Given the description of an element on the screen output the (x, y) to click on. 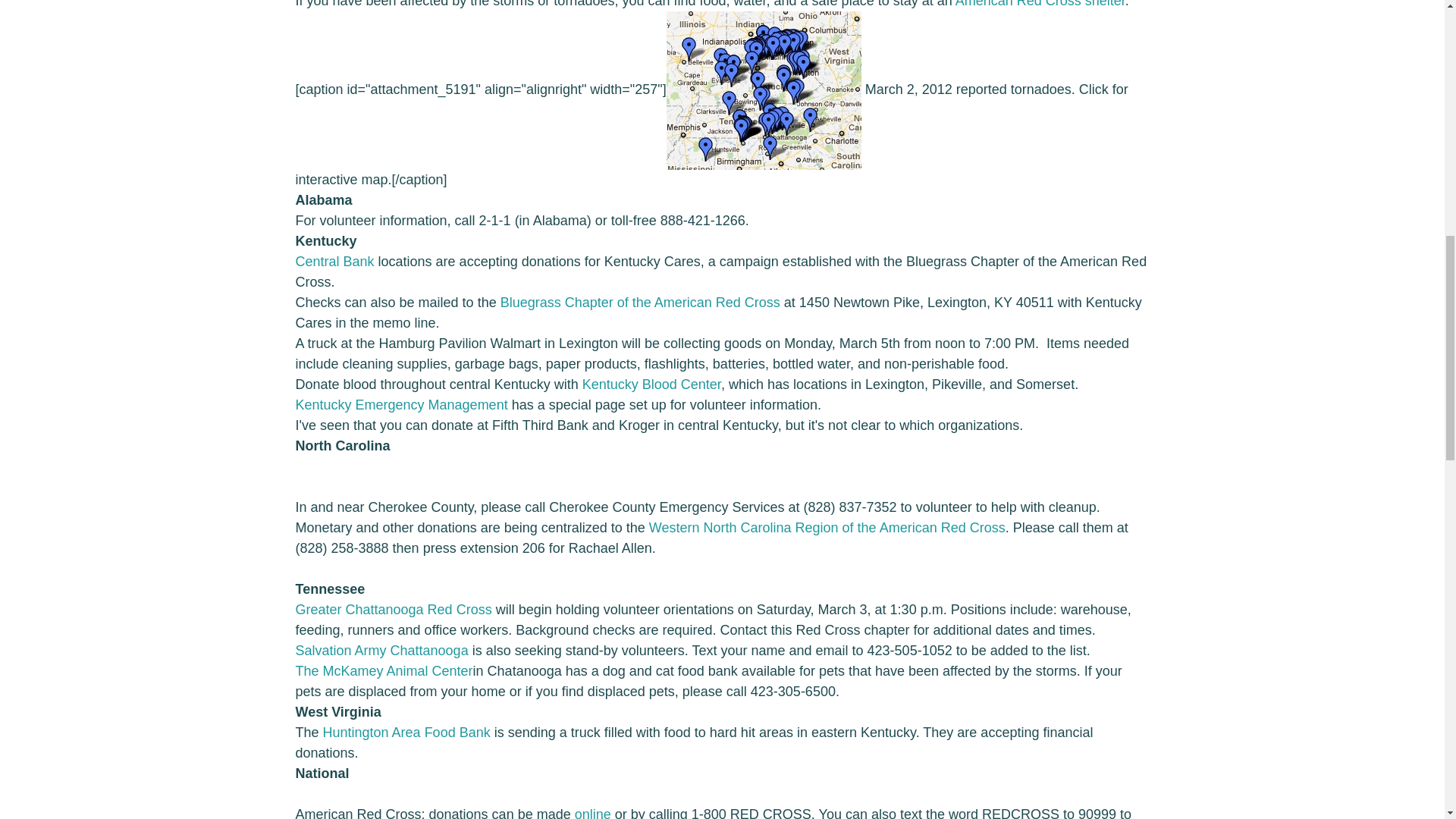
volunteer tornado (401, 404)
Chattanooga Red Cross (393, 609)
tornado blood donation (651, 384)
red cross tornado kentucky (640, 302)
Tornado animal shelter (384, 670)
tornado donations at a bank (334, 261)
Red Cross shelter (1040, 4)
map (763, 90)
tornado western north carolina (827, 527)
Red Cross tornado donation (593, 812)
